Given the description of an element on the screen output the (x, y) to click on. 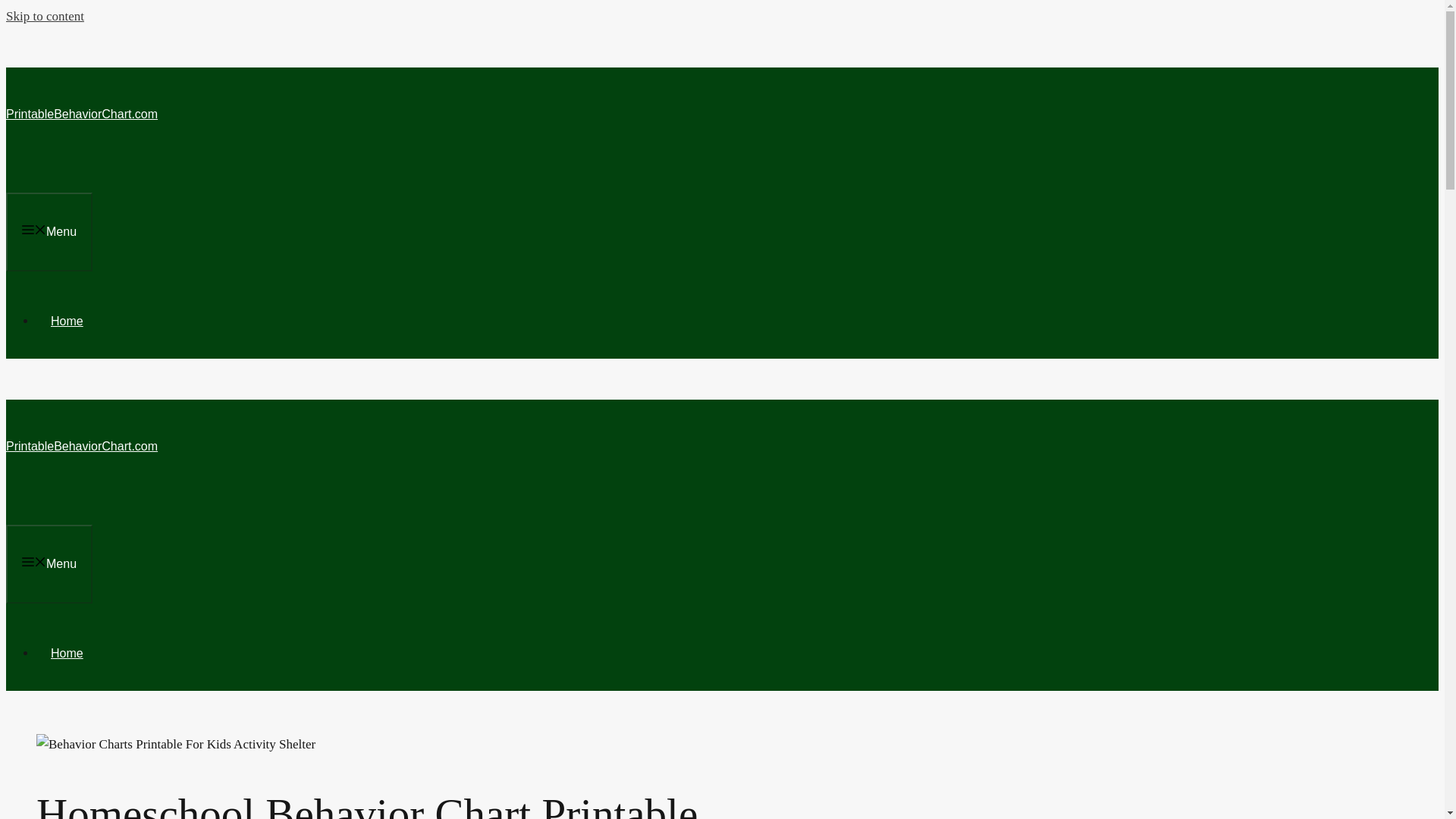
Menu (49, 231)
Home (66, 320)
Home (66, 653)
PrintableBehaviorChart.com (81, 445)
PrintableBehaviorChart.com (81, 113)
Skip to content (44, 16)
Menu (49, 563)
Skip to content (44, 16)
